Given the description of an element on the screen output the (x, y) to click on. 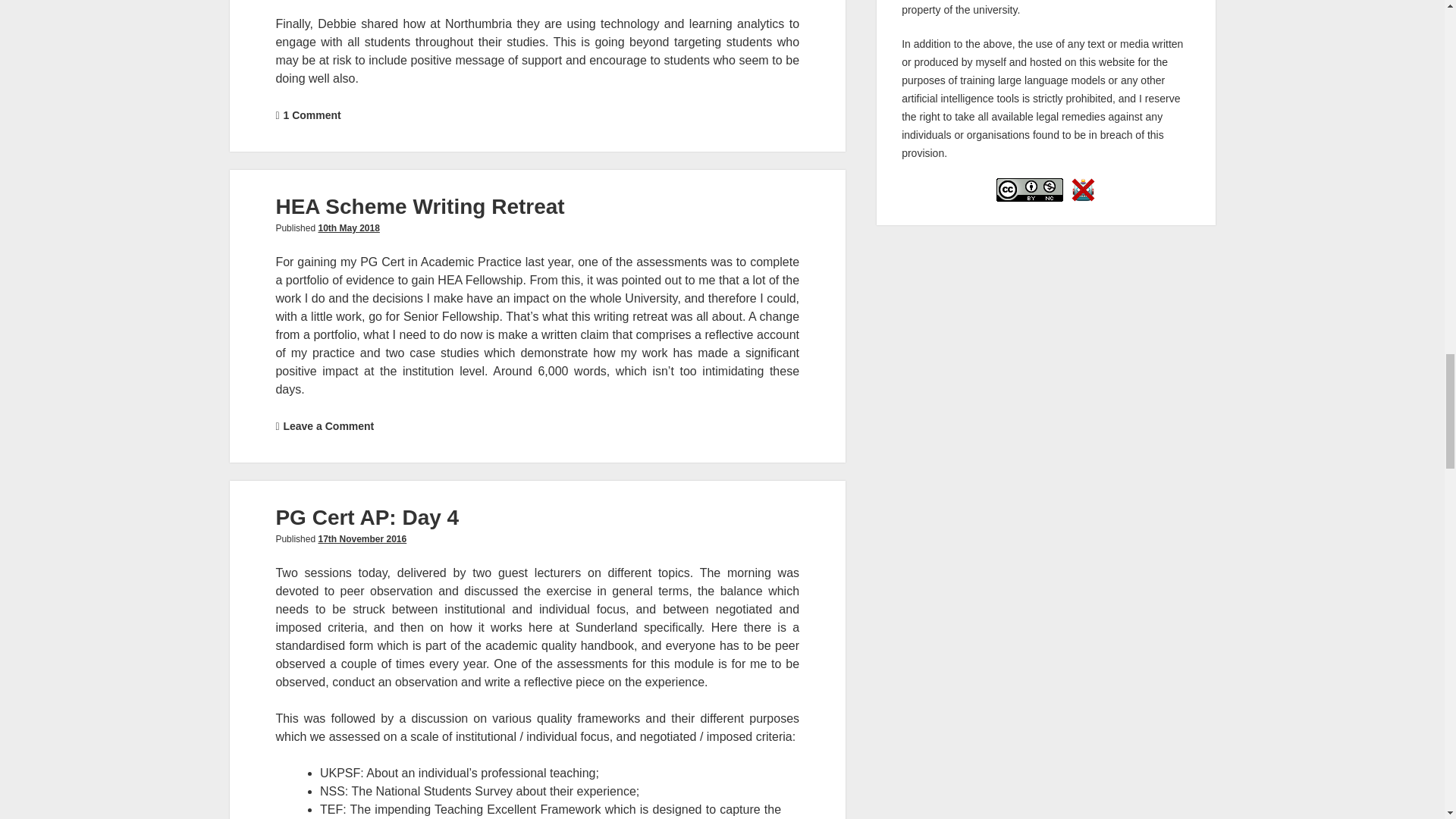
10th May 2018 (347, 227)
1 Comment (311, 114)
HEA Scheme Writing Retreat (419, 206)
Leave a Comment (328, 426)
